Given the description of an element on the screen output the (x, y) to click on. 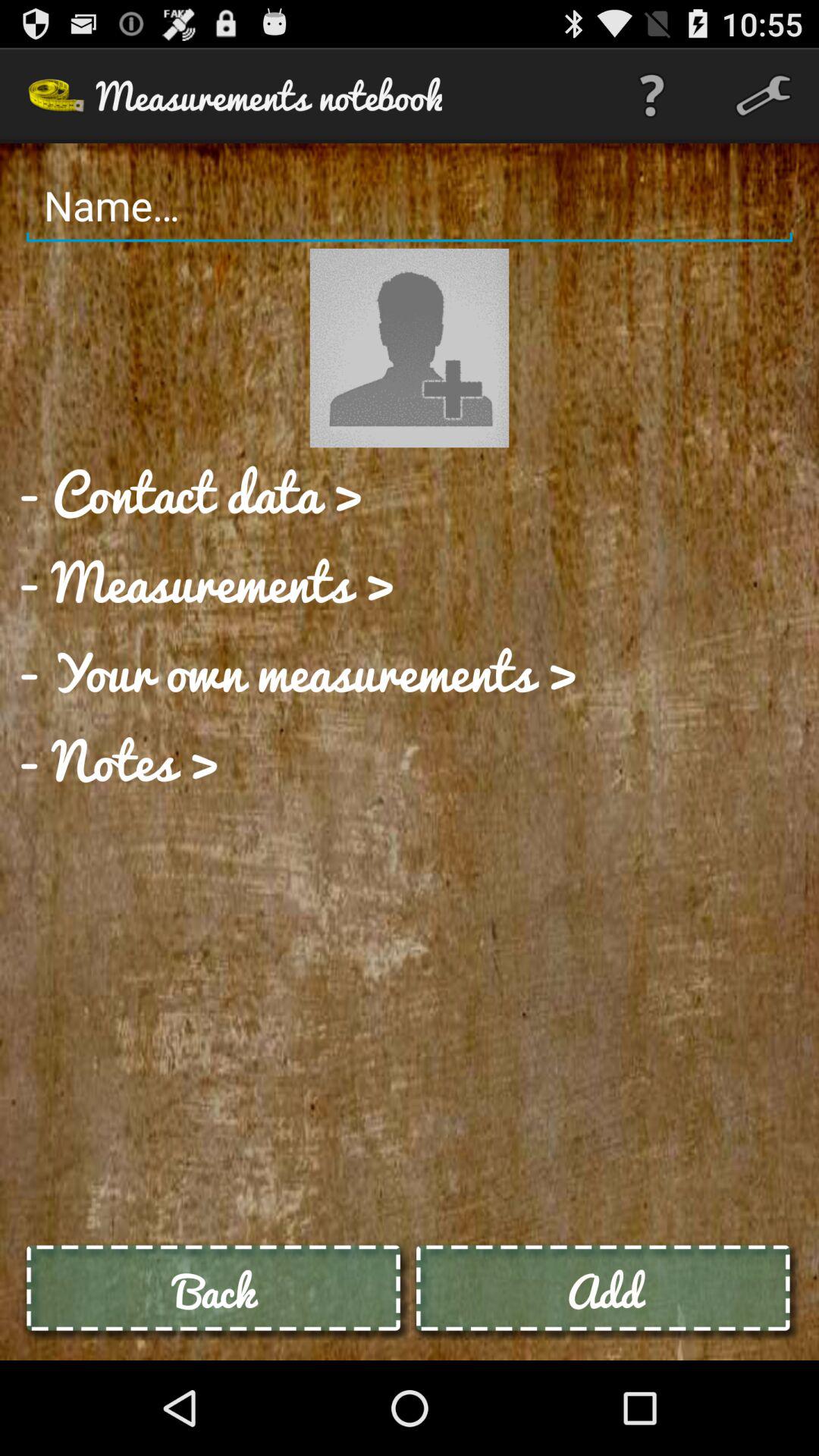
press the button next to back icon (604, 1290)
